Given the description of an element on the screen output the (x, y) to click on. 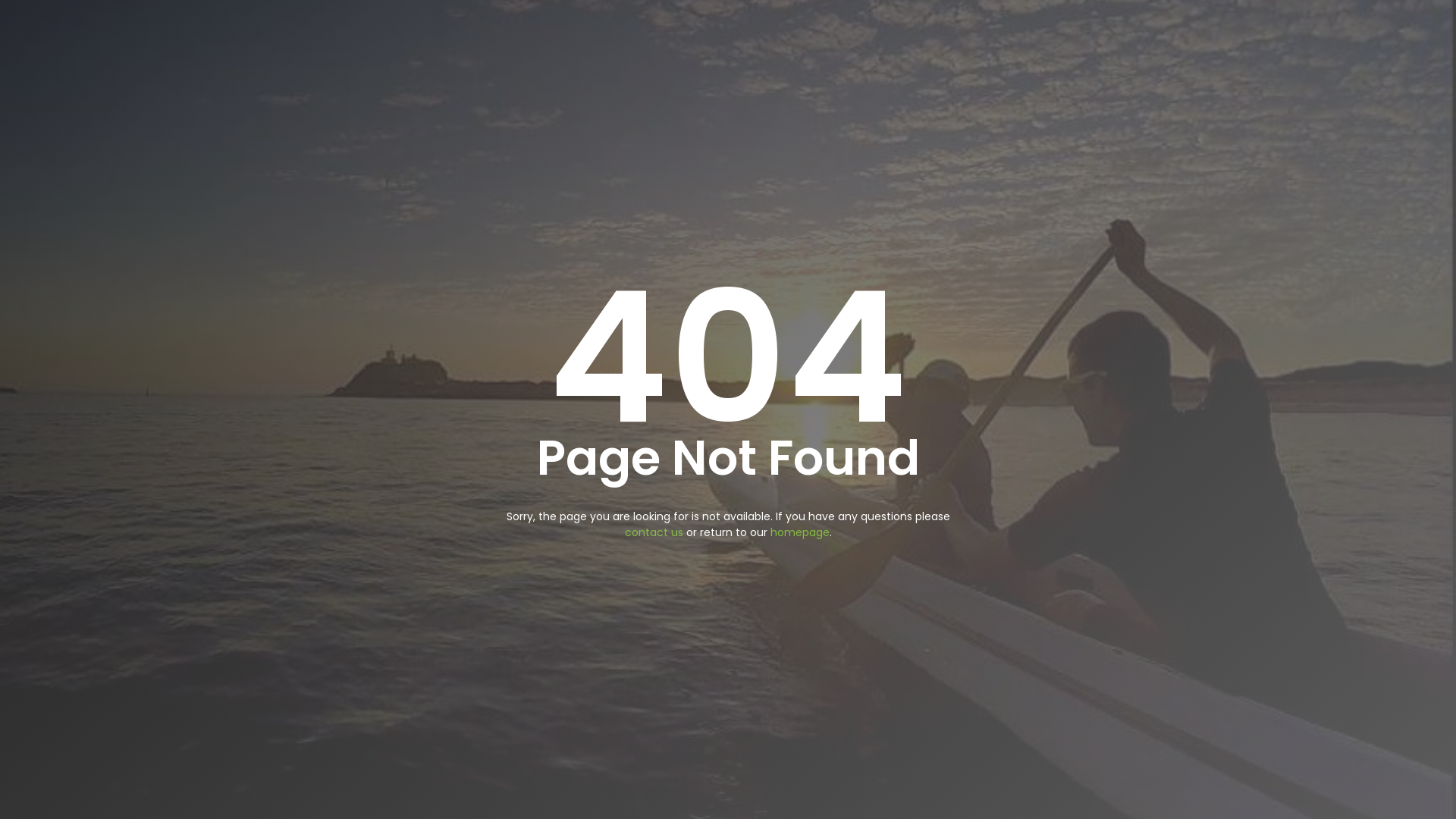
contact us Element type: text (653, 531)
homepage Element type: text (799, 531)
